Given the description of an element on the screen output the (x, y) to click on. 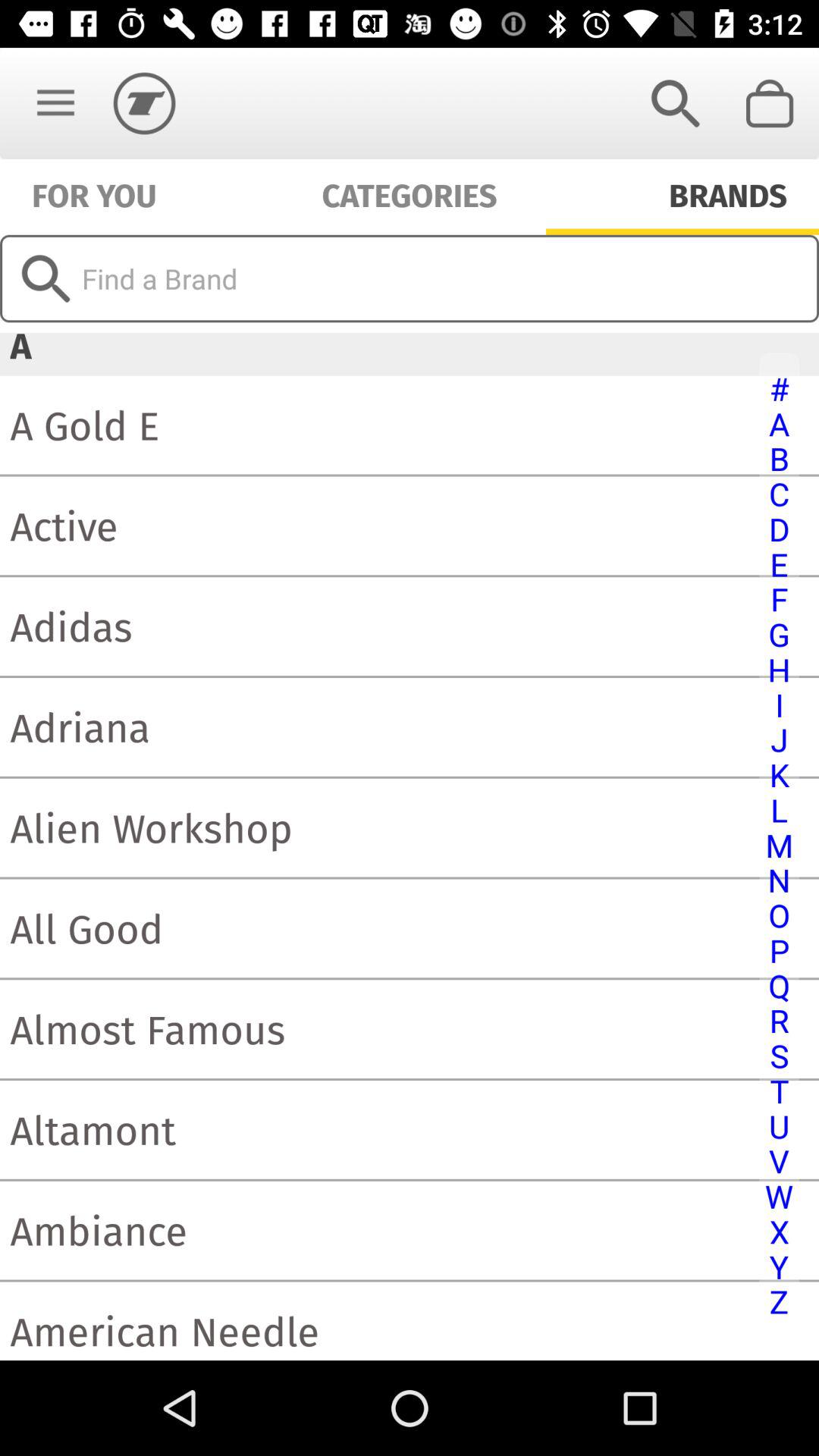
press the categories item (409, 193)
